Given the description of an element on the screen output the (x, y) to click on. 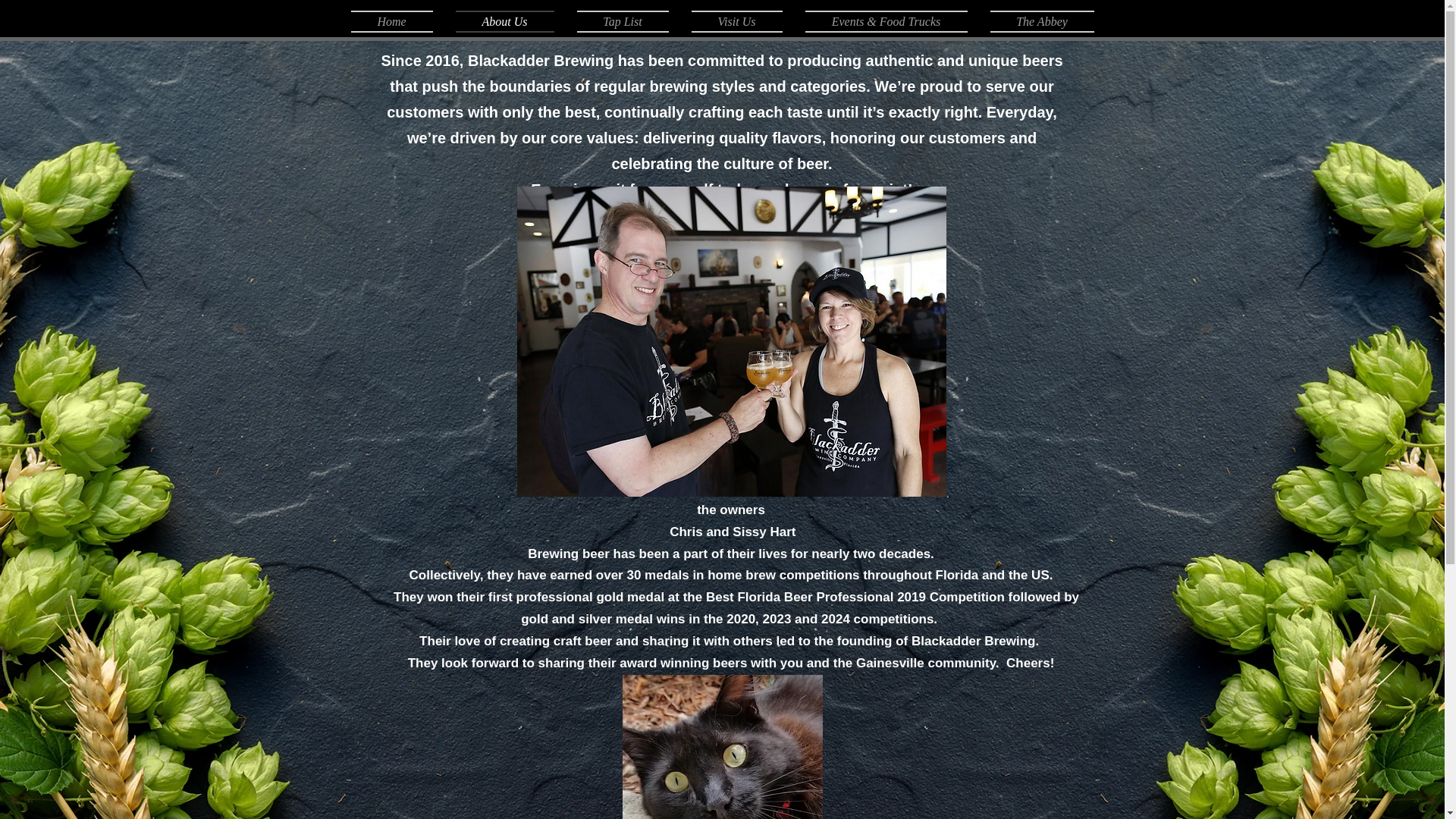
Tap List (622, 21)
Visit Us (736, 21)
About Us (505, 21)
Home (397, 21)
The Abbey (1035, 21)
